Given the description of an element on the screen output the (x, y) to click on. 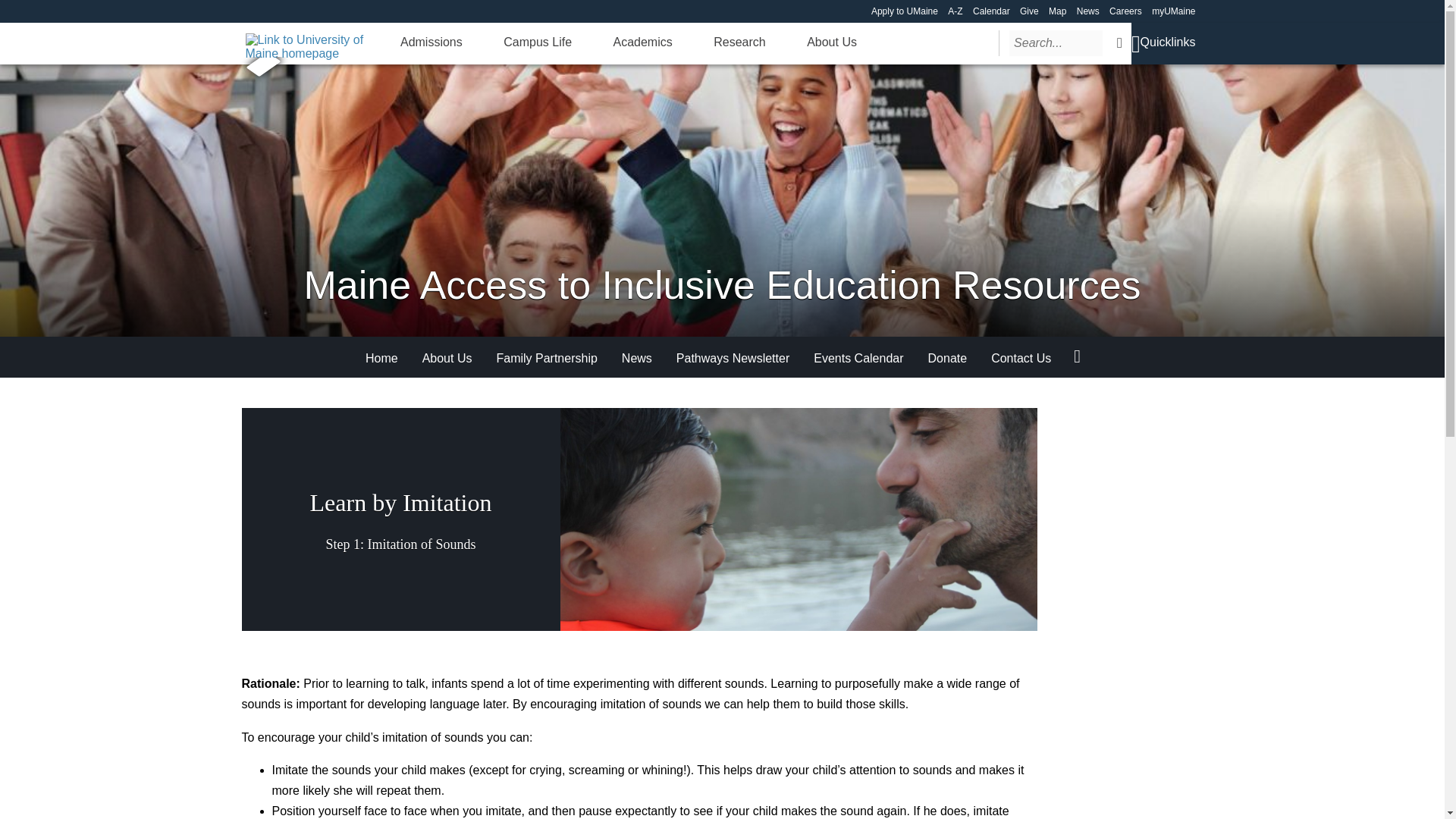
A-Z (954, 10)
Search for: (1055, 43)
Calendar (991, 10)
Careers (1125, 10)
Search (1119, 42)
Map (1056, 10)
Admissions (431, 42)
Apply to UMaine (903, 10)
Give (1029, 10)
myUMaine (1173, 10)
News (1088, 10)
